Given the description of an element on the screen output the (x, y) to click on. 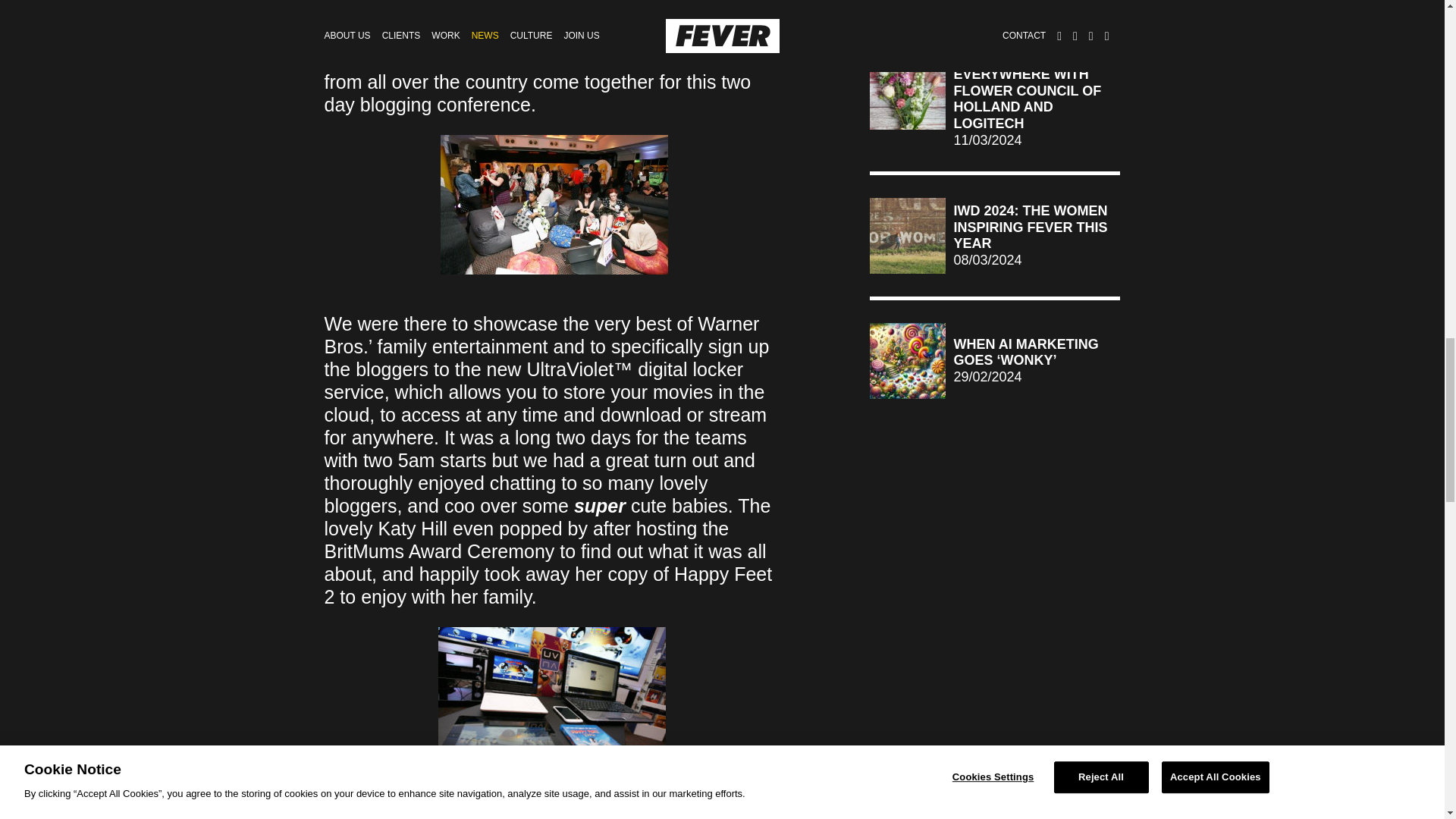
Katy Hill (411, 527)
UltraViolet (568, 369)
WarnerBros65 (554, 204)
WarnerBros (551, 702)
